Given the description of an element on the screen output the (x, y) to click on. 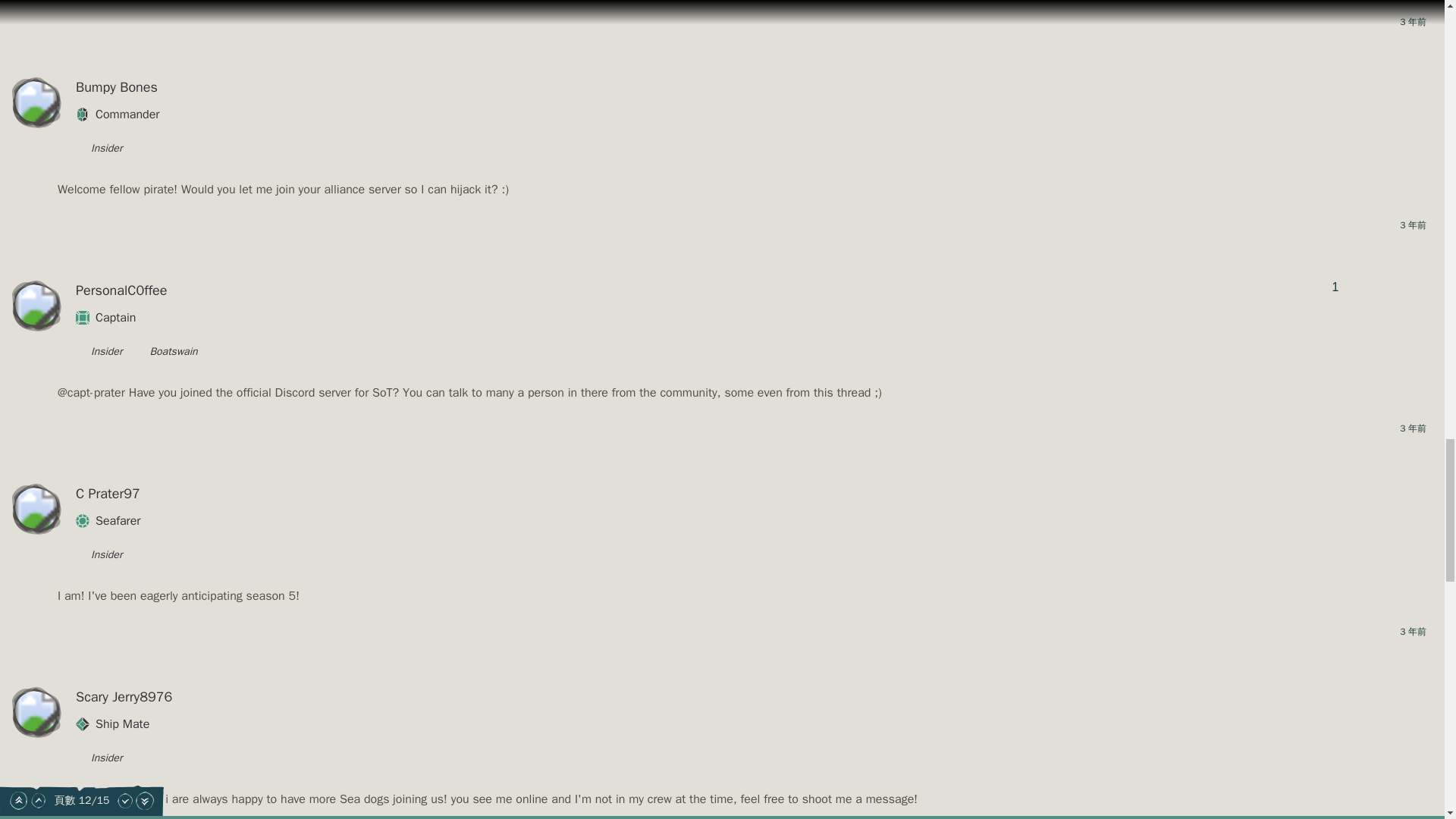
1 (1335, 287)
